Given the description of an element on the screen output the (x, y) to click on. 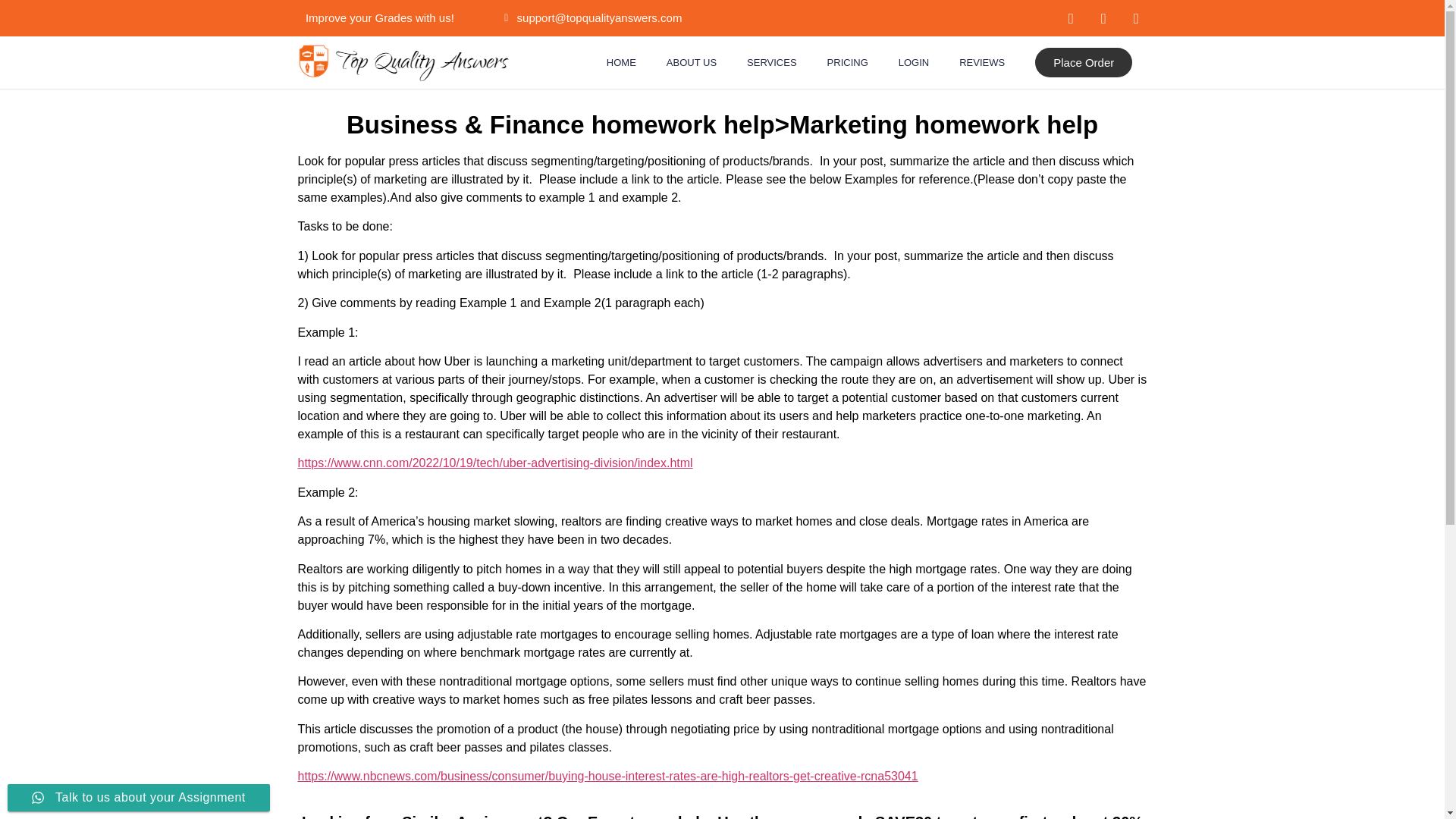
Place Order (1083, 61)
PRICING (847, 62)
REVIEWS (981, 62)
LOGIN (913, 62)
SERVICES (772, 62)
HOME (620, 62)
ABOUT US (691, 62)
